Given the description of an element on the screen output the (x, y) to click on. 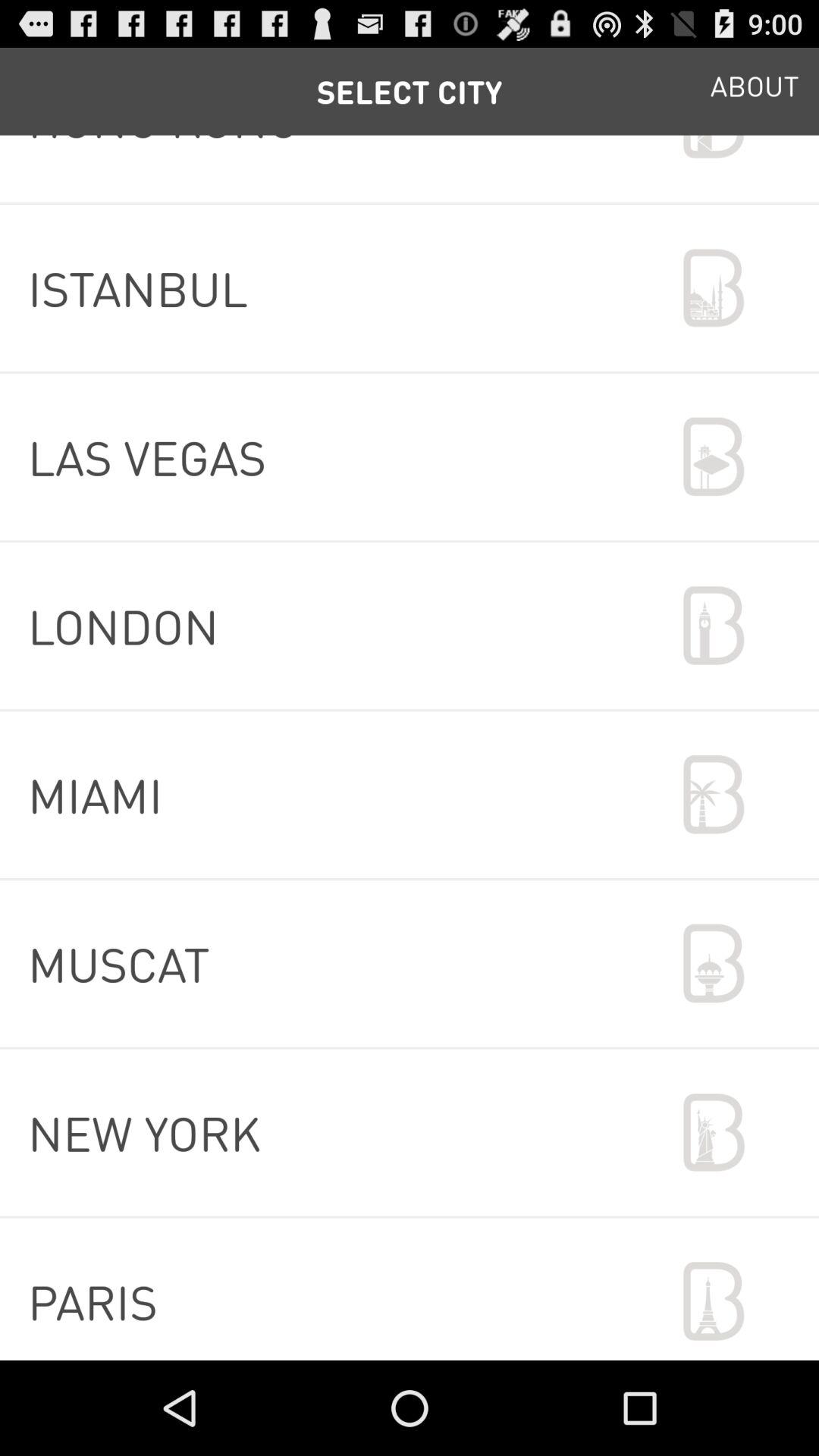
open about item (754, 91)
